Given the description of an element on the screen output the (x, y) to click on. 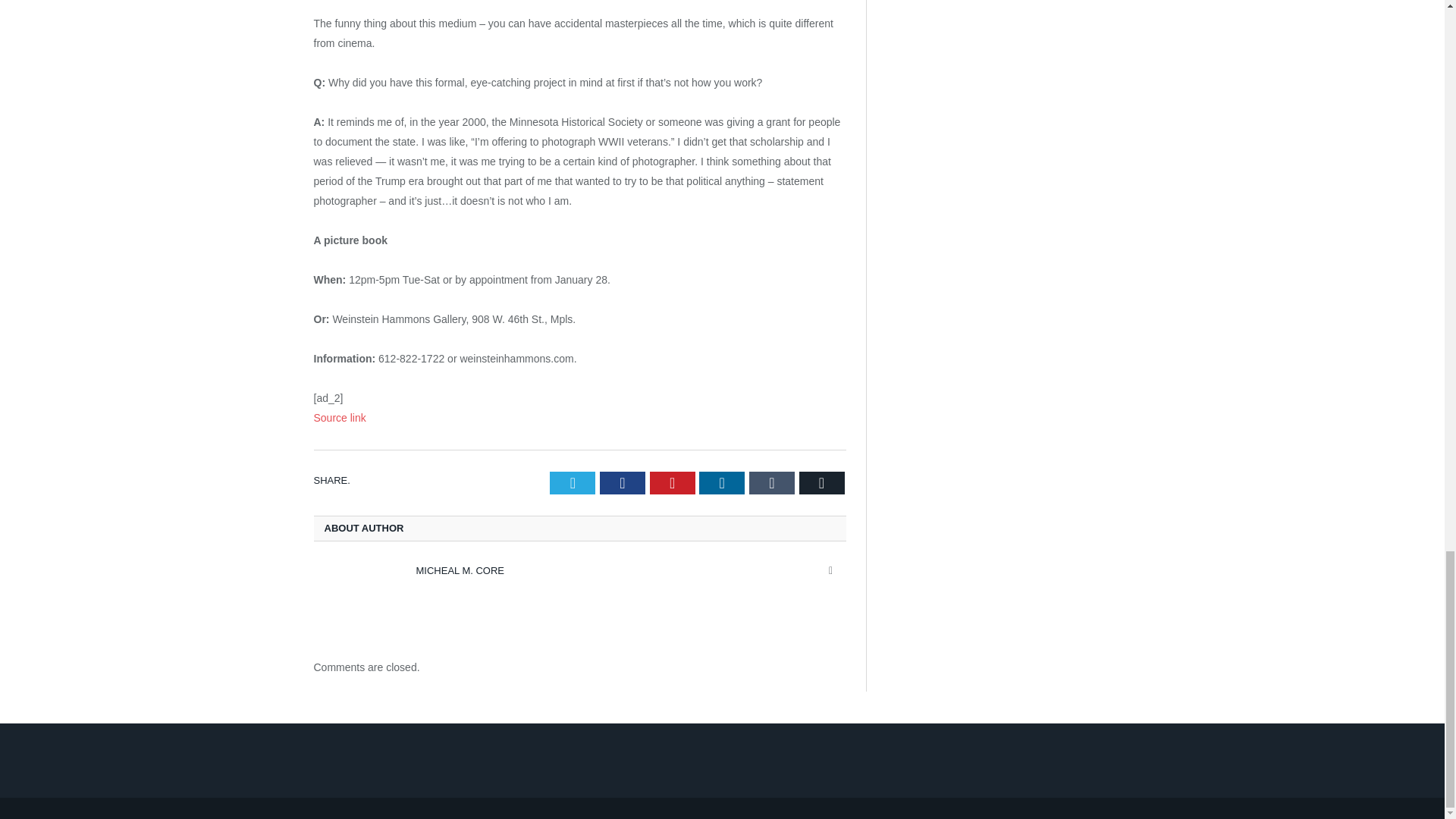
Posts by Micheal M. Core (458, 570)
Tumblr (771, 482)
MICHEAL M. CORE (458, 570)
Twitter (572, 482)
Website (831, 570)
LinkedIn (721, 482)
Pinterest (672, 482)
Email (821, 482)
Source link (340, 417)
Facebook (622, 482)
